Given the description of an element on the screen output the (x, y) to click on. 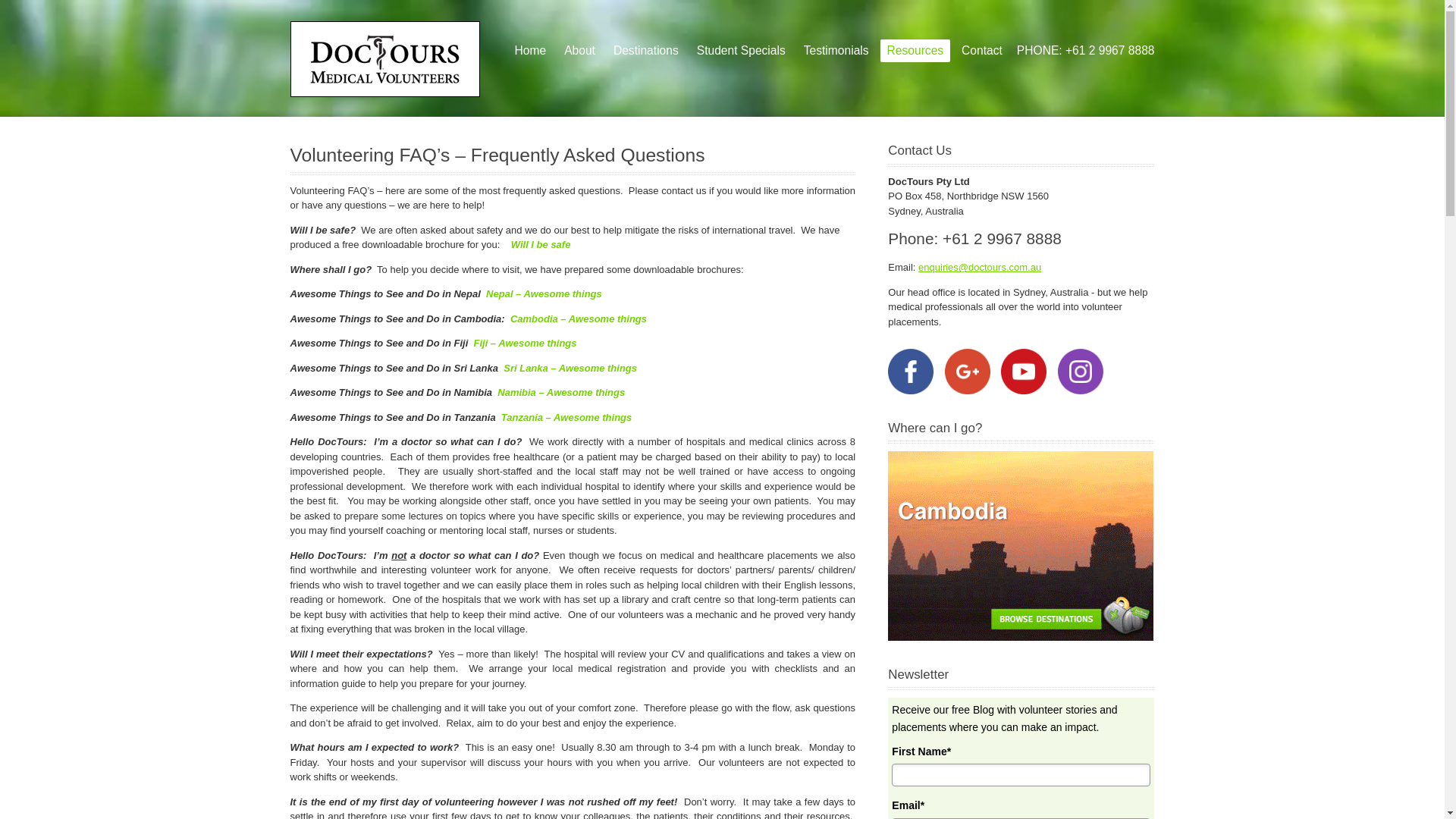
About Element type: text (579, 50)
Resources Element type: text (915, 50)
enquiries@doctours.com.au Element type: text (979, 267)
Student Specials Element type: text (741, 50)
Will I be safe Element type: text (541, 244)
Contact Element type: text (981, 50)
Destinations Element type: text (645, 50)
+61 2 9967 8888 Element type: text (1109, 49)
Home Element type: text (530, 50)
Testimonials Element type: text (836, 50)
